Given the description of an element on the screen output the (x, y) to click on. 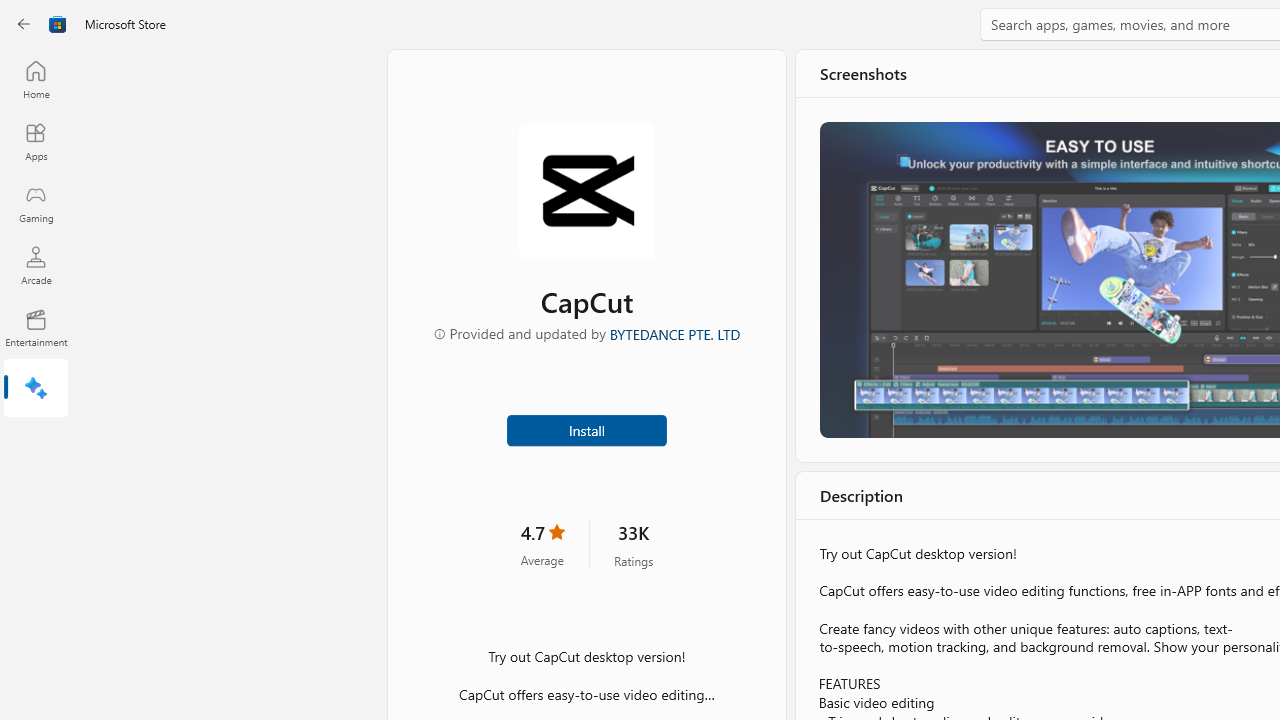
BYTEDANCE PTE. LTD (673, 333)
4.7 stars. Click to skip to ratings and reviews (542, 543)
Install (586, 428)
Back (24, 24)
